Given the description of an element on the screen output the (x, y) to click on. 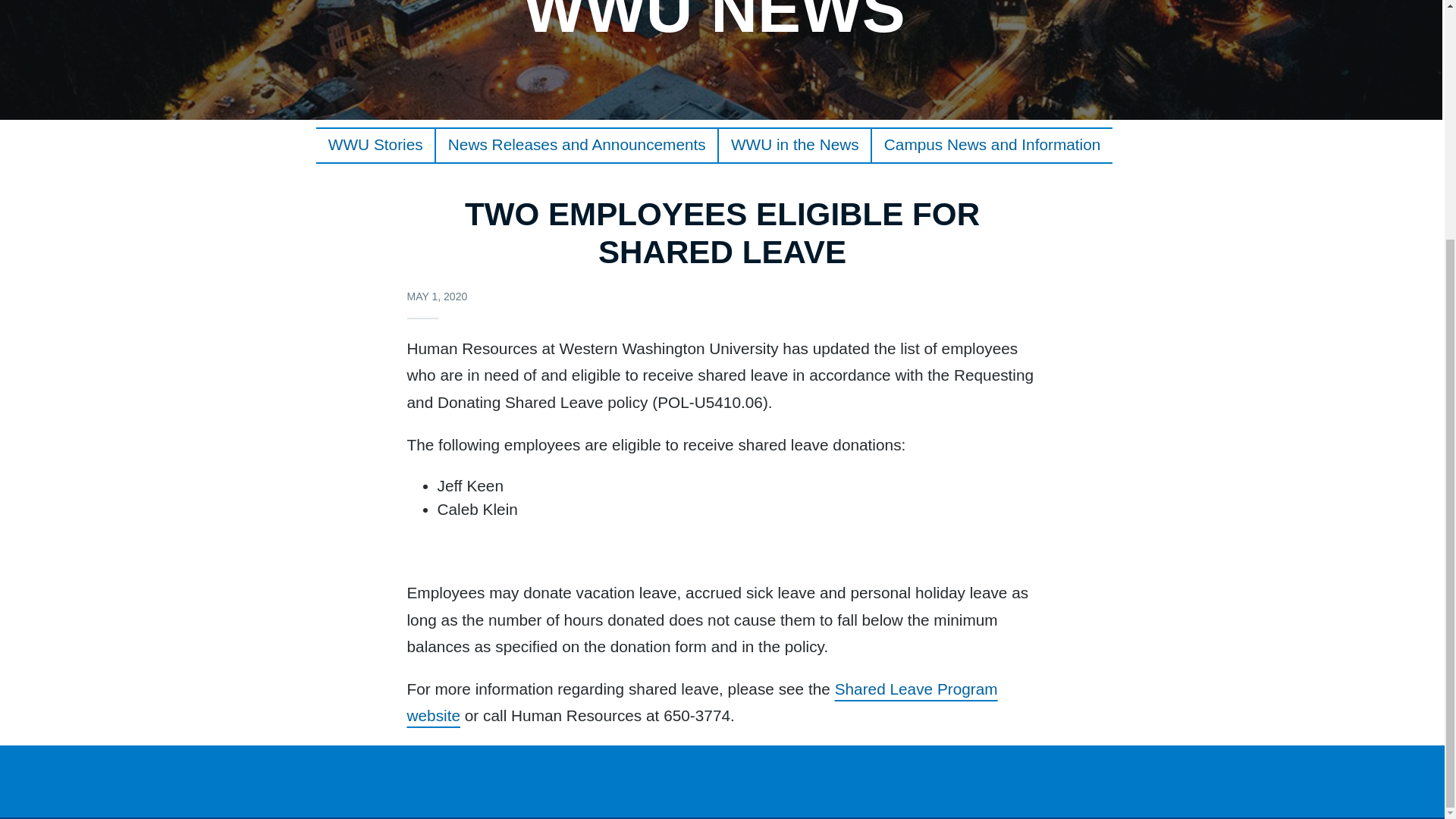
Shared Leave Program website (701, 702)
WWU in the News (794, 145)
News Releases and Announcements (576, 145)
Campus News and Information (992, 145)
WWU Stories (374, 145)
